Given the description of an element on the screen output the (x, y) to click on. 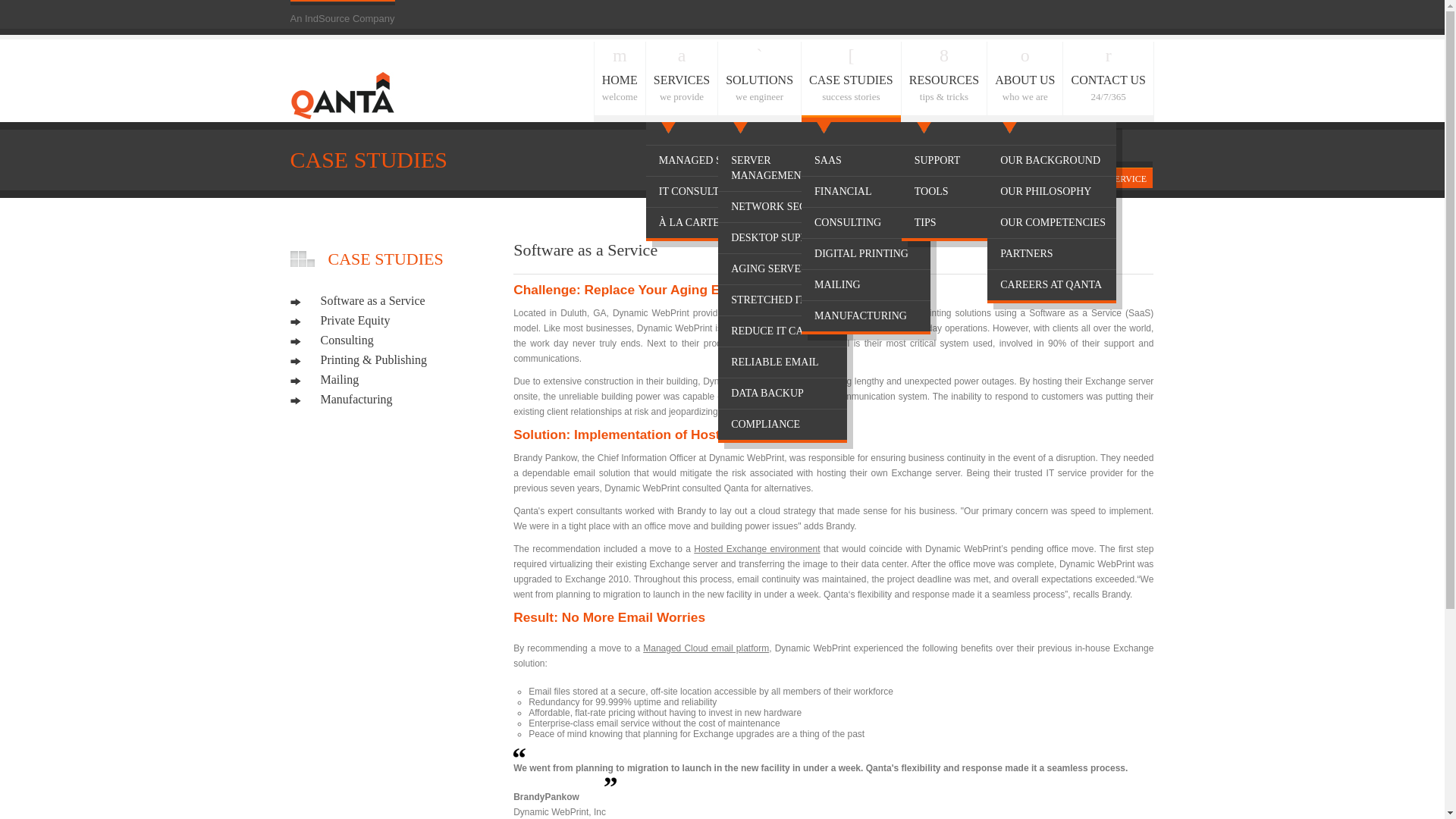
An IndSource Company (341, 18)
HOME (943, 178)
Private Equity (339, 319)
COMPLIANCE (782, 424)
NETWORK SECURITY (782, 206)
OUR PHILOSOPHY (1051, 191)
DIGITAL PRINTING (681, 81)
TIPS (866, 254)
CAREERS AT QANTA (965, 223)
MANUFACTURING (1051, 285)
DATA BACKUP (866, 316)
CASE STUDIES (782, 393)
CONSULTING (996, 178)
IT CONSULTING (866, 223)
